Given the description of an element on the screen output the (x, y) to click on. 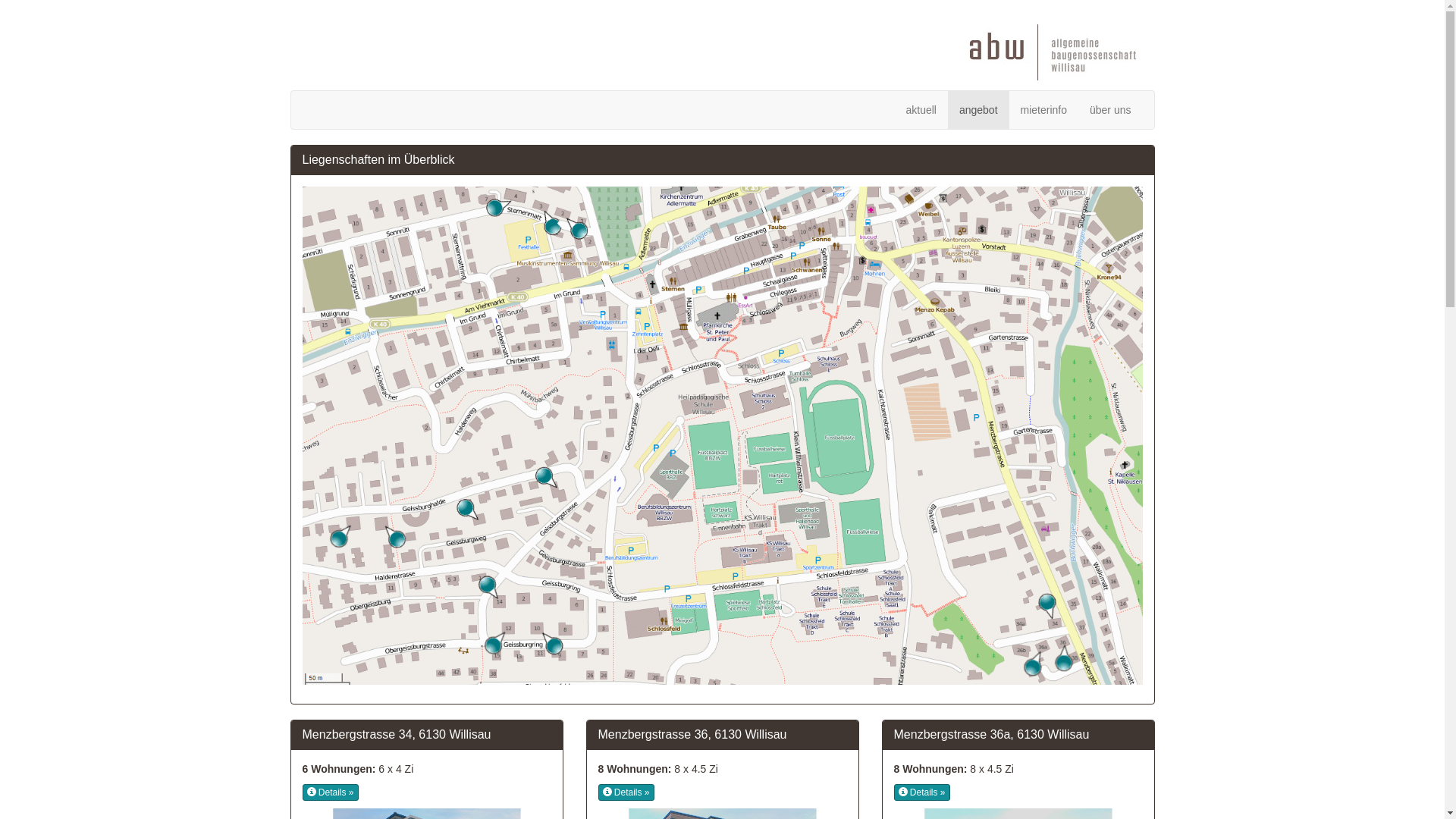
mieterinfo Element type: text (1043, 109)
aktuell Element type: text (920, 109)
angebot Element type: text (978, 109)
